Given the description of an element on the screen output the (x, y) to click on. 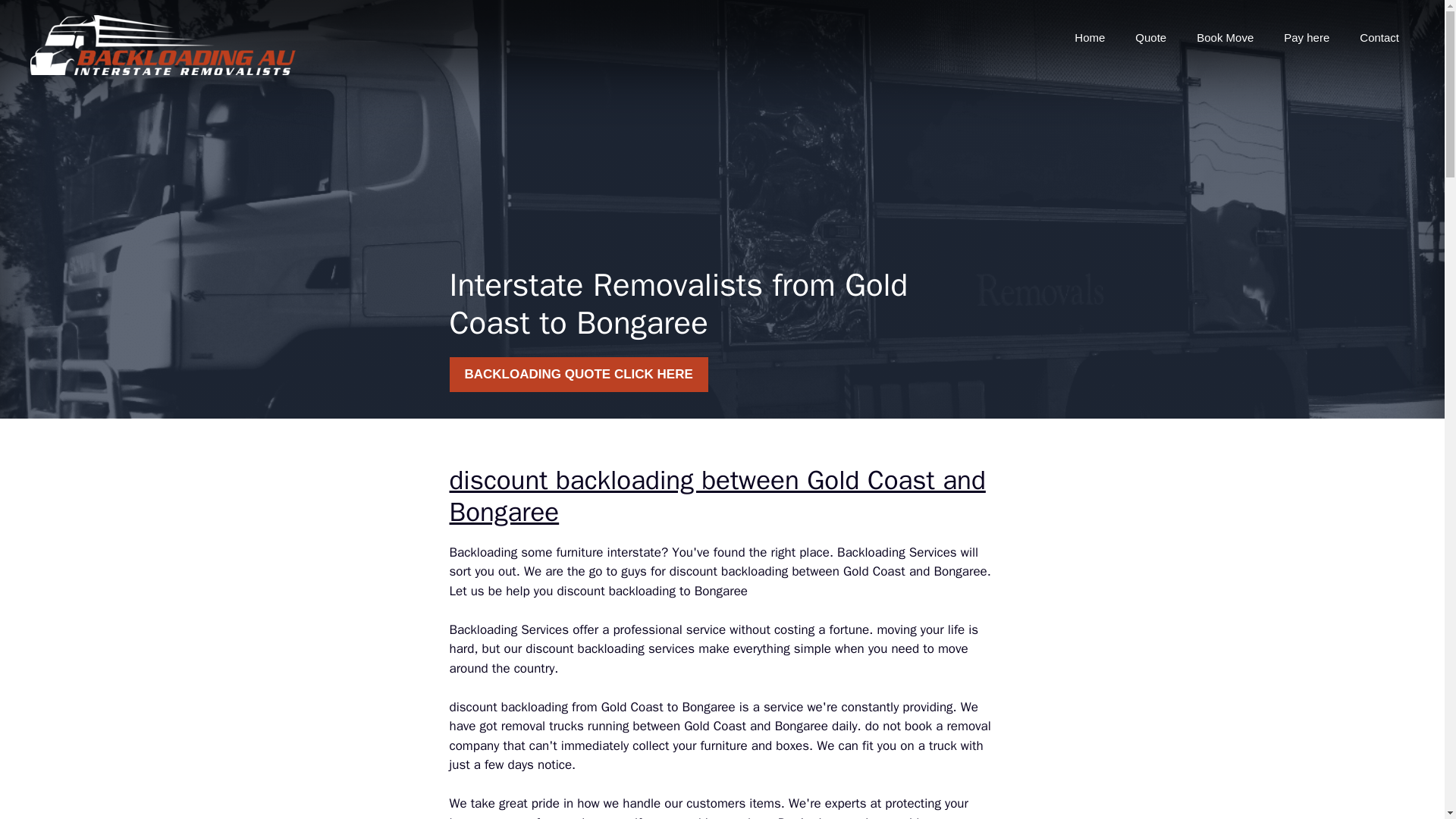
Pay here (1305, 37)
Quote (1149, 37)
BACKLOADING QUOTE CLICK HERE (577, 374)
Home (1089, 37)
Book Move (1224, 37)
Contact (1378, 37)
Search (42, 18)
